Given the description of an element on the screen output the (x, y) to click on. 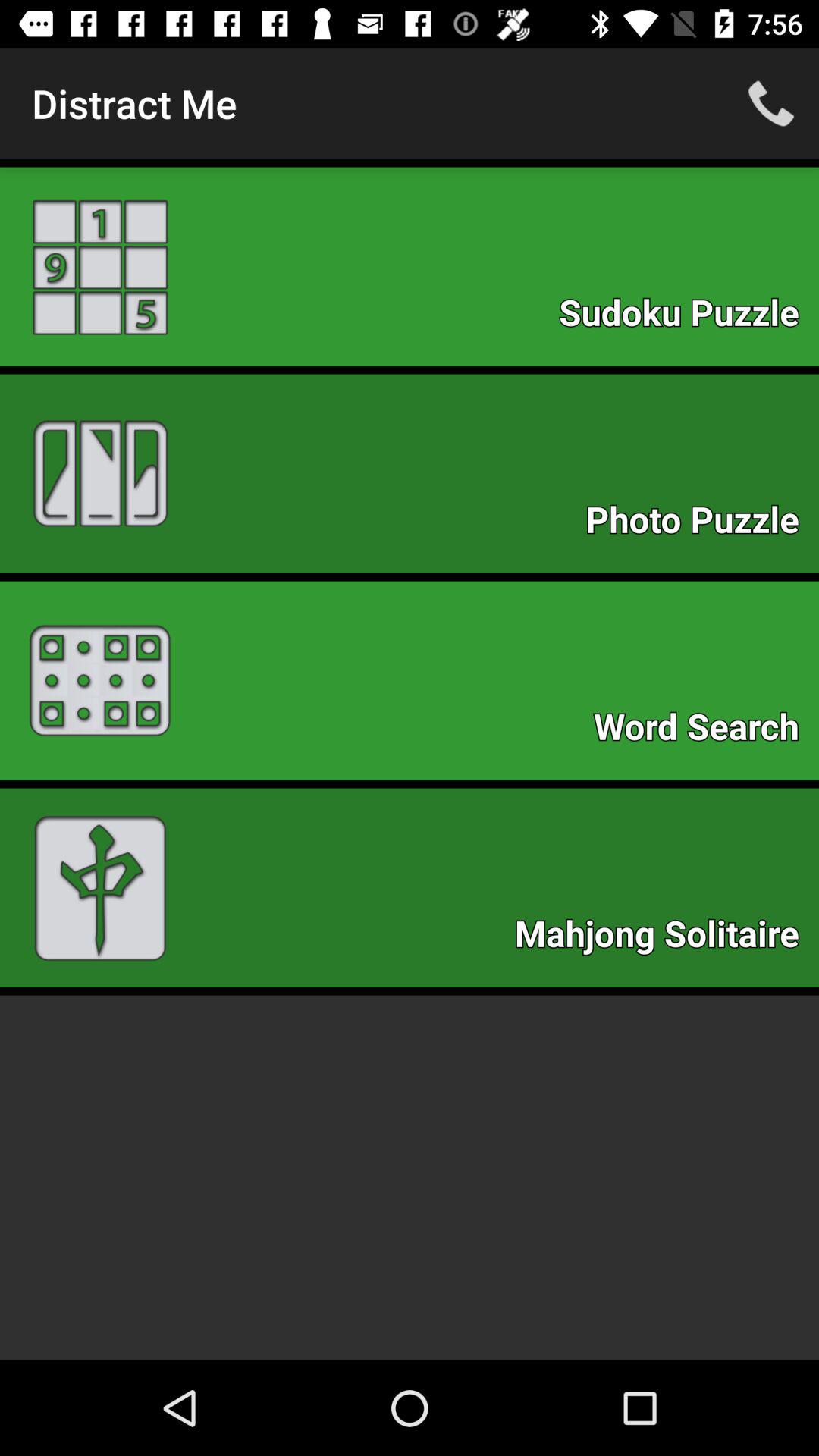
turn on the photo puzzle item (700, 523)
